Given the description of an element on the screen output the (x, y) to click on. 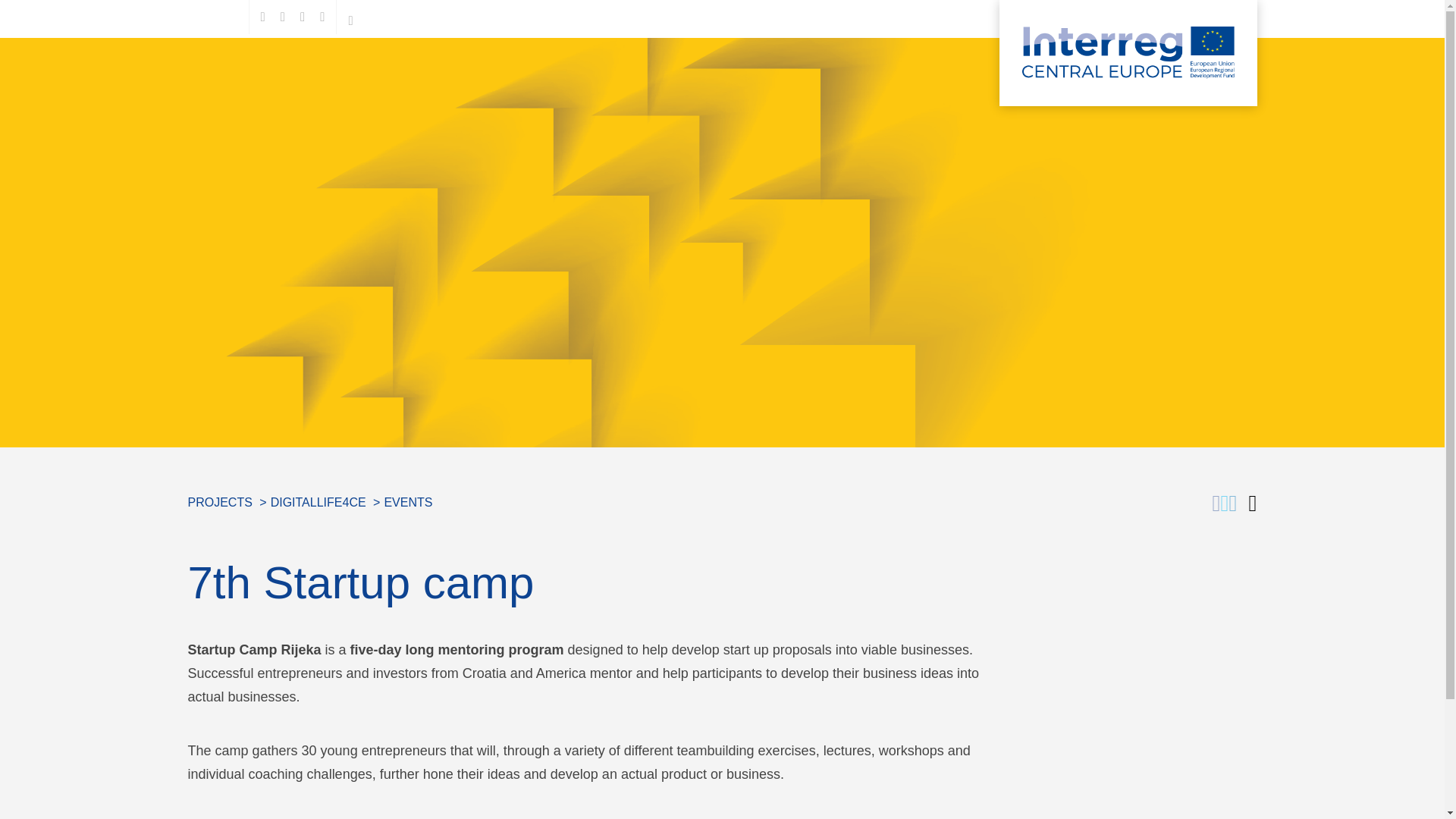
PROJECTS (219, 502)
DIGITALLIFE4CE (318, 502)
EVENTS (408, 502)
Events (408, 502)
Projects (219, 502)
digitalLIFE4CE (318, 502)
